Given the description of an element on the screen output the (x, y) to click on. 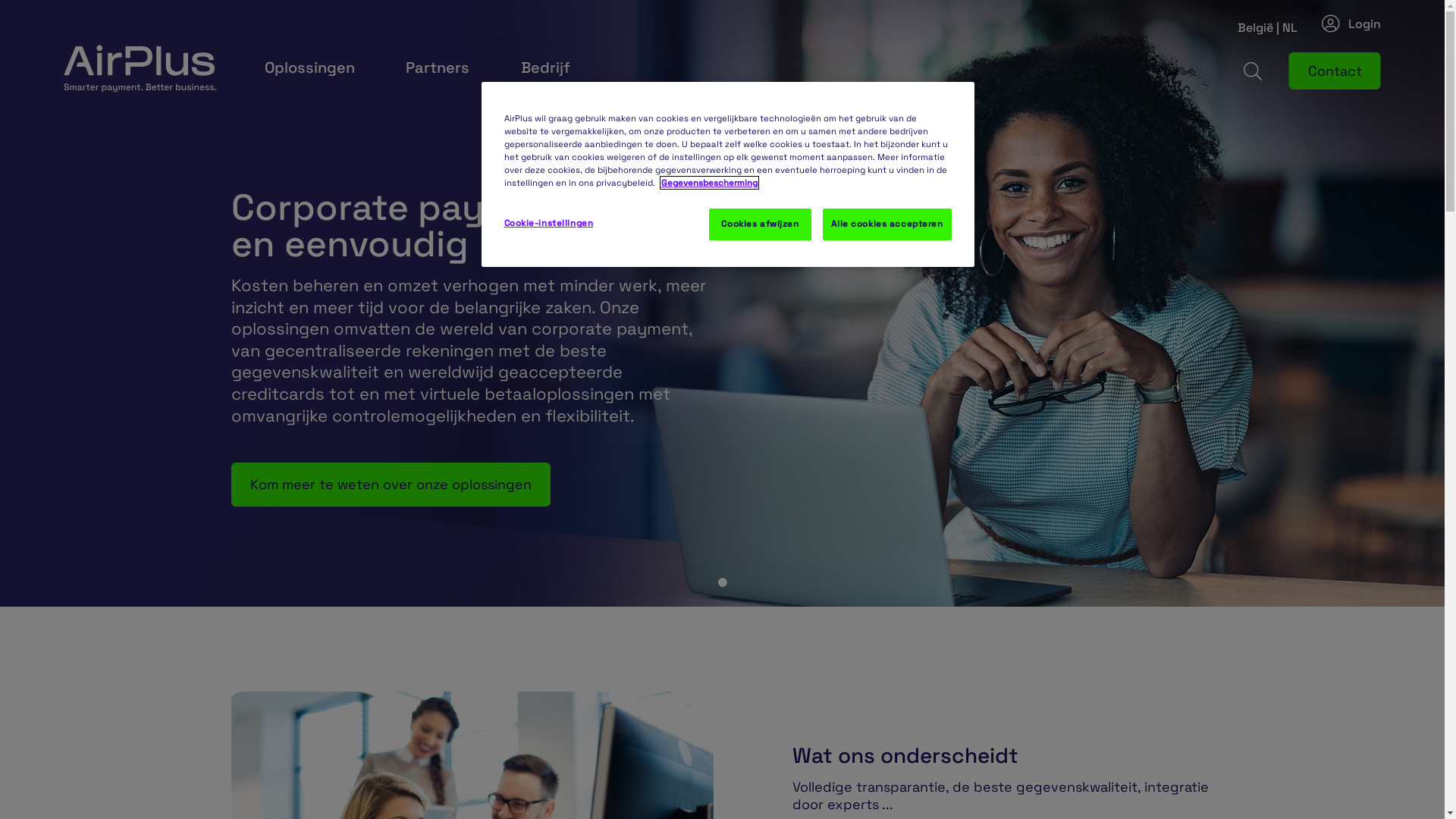
Oplossingen Element type: text (316, 67)
Cookie-instellingen Element type: text (554, 223)
Bedrijf Element type: text (552, 67)
Login Element type: text (1350, 23)
Cookies afwijzen Element type: text (760, 224)
Kom meer te weten over onze oplossingen Element type: text (389, 483)
Contact Element type: text (1334, 70)
Gegevensbescherming Element type: text (709, 182)
Partners Element type: text (444, 67)
Alle cookies accepteren Element type: text (886, 224)
